Given the description of an element on the screen output the (x, y) to click on. 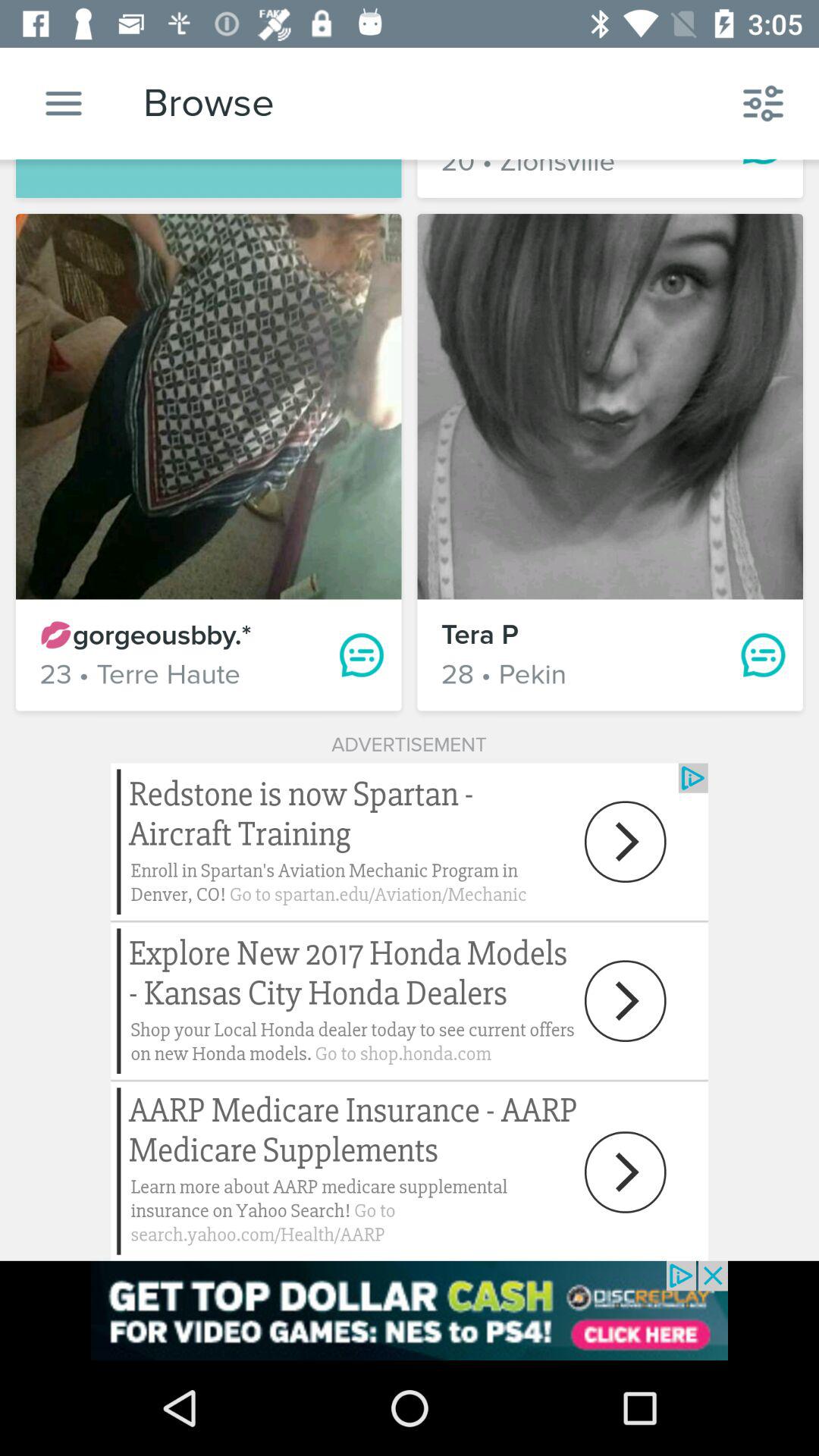
know about the advertisement (409, 1310)
